Given the description of an element on the screen output the (x, y) to click on. 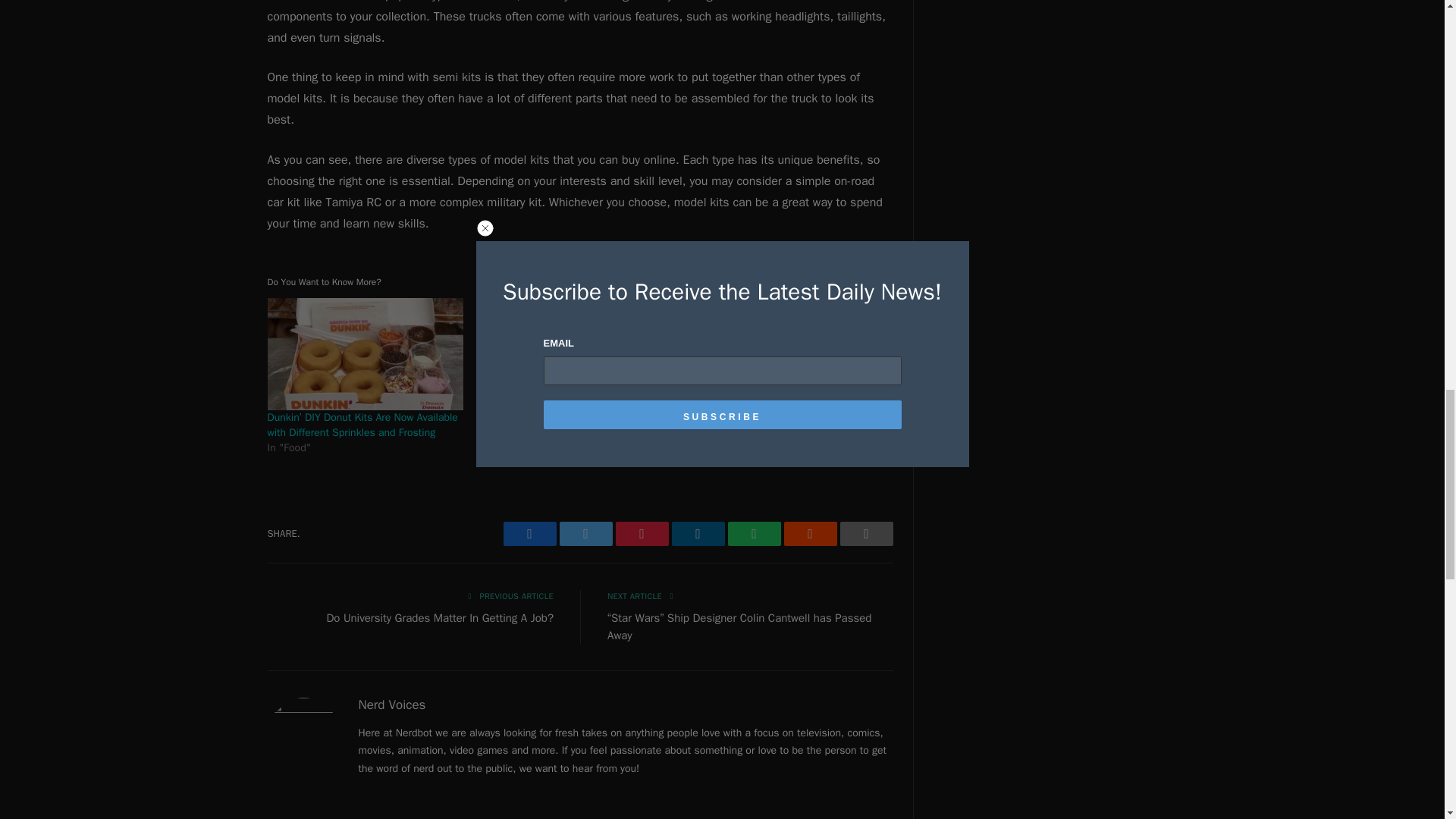
LEGO Announces a 2,363-Piece  1989 Batwing is Coming (788, 354)
